Given the description of an element on the screen output the (x, y) to click on. 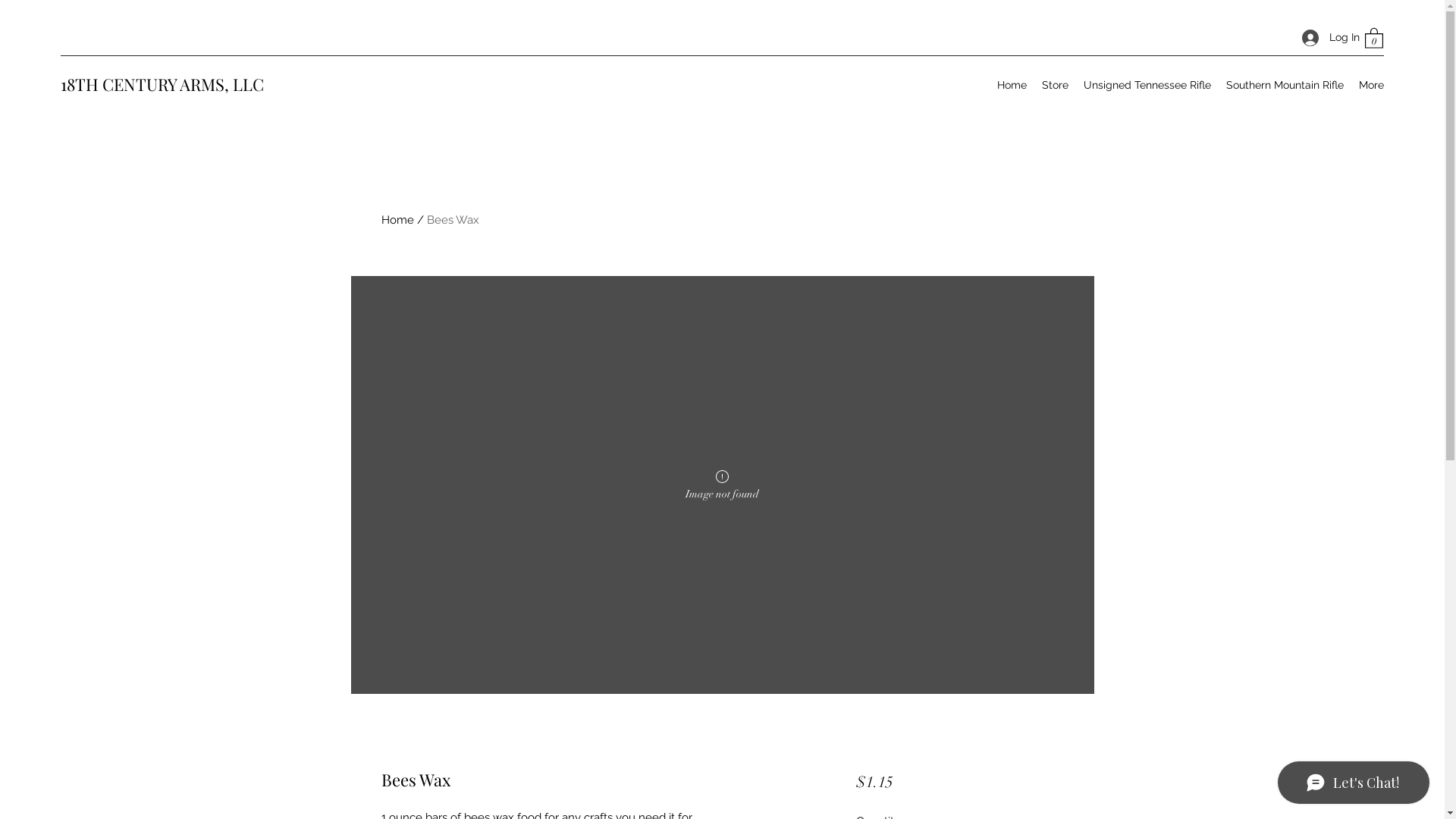
Home Element type: text (1011, 84)
Southern Mountain Rifle Element type: text (1284, 84)
Home Element type: text (396, 219)
Unsigned Tennessee Rifle Element type: text (1147, 84)
Store Element type: text (1055, 84)
0 Element type: text (1374, 37)
18TH CENTURY ARMS, LLC Element type: text (161, 83)
Log In Element type: text (1325, 37)
Bees Wax Element type: text (452, 219)
